Given the description of an element on the screen output the (x, y) to click on. 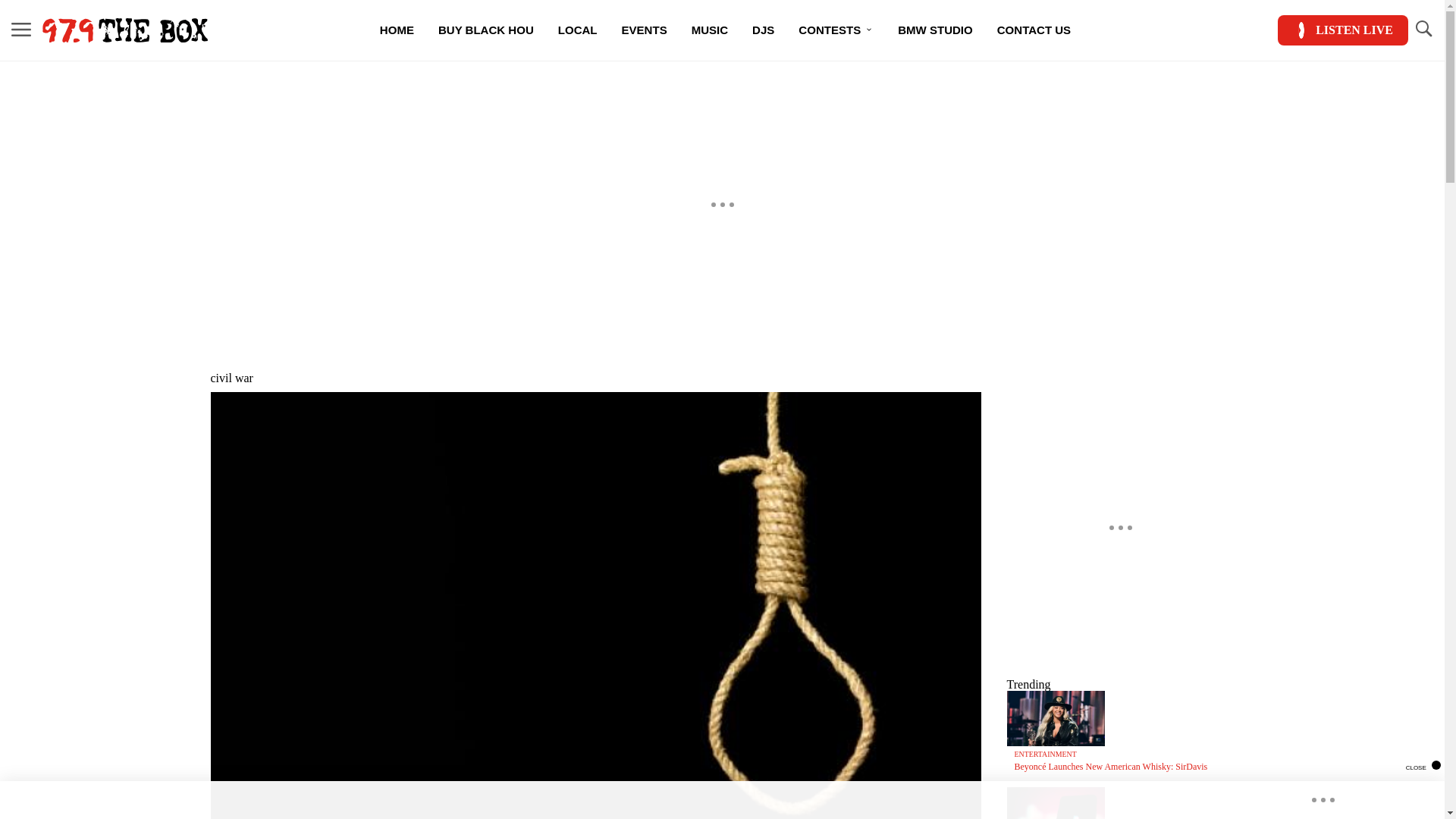
MUSIC (709, 30)
CONTACT US (1034, 30)
TOGGLE SEARCH (1422, 30)
MENU (20, 29)
EVENTS (644, 30)
CONTESTS (835, 30)
MENU (20, 30)
ENTERTAINMENT (1045, 754)
LISTEN LIVE (1342, 30)
TOGGLE SEARCH (1422, 28)
